Given the description of an element on the screen output the (x, y) to click on. 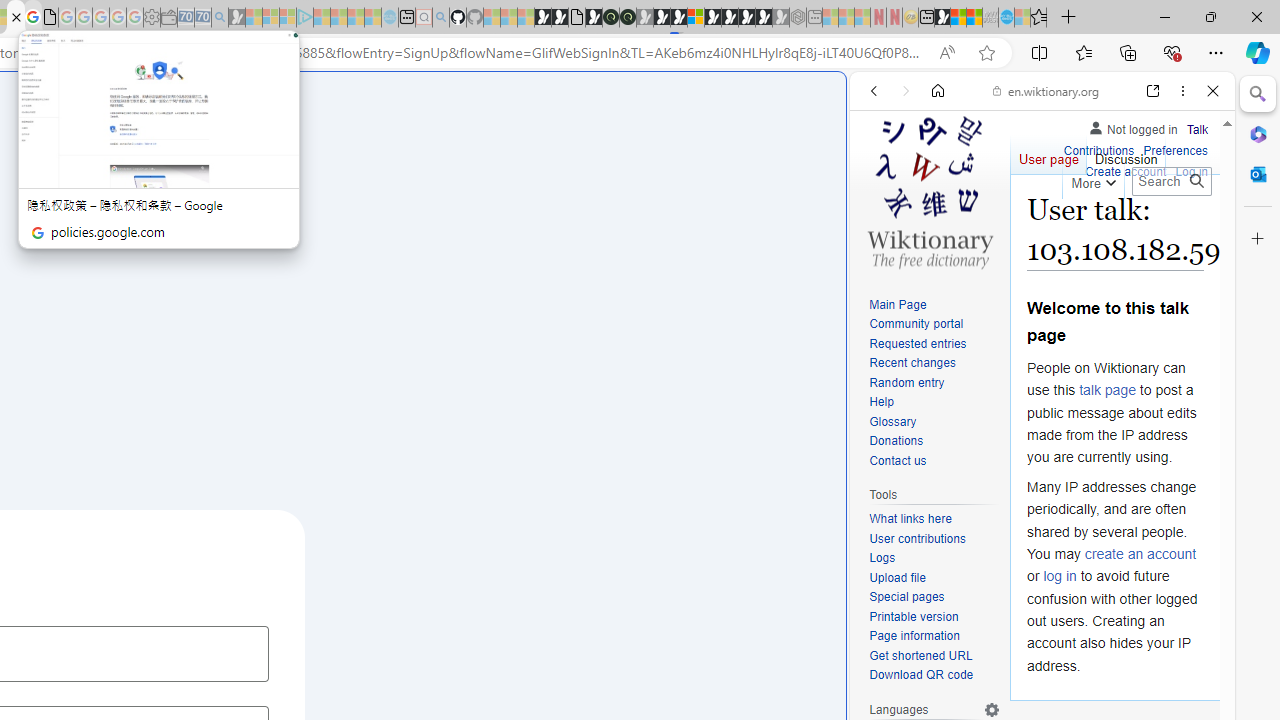
Sign in to your account (695, 17)
Glossary (934, 421)
Donations (896, 441)
What links here (934, 519)
Logs (934, 558)
